Given the description of an element on the screen output the (x, y) to click on. 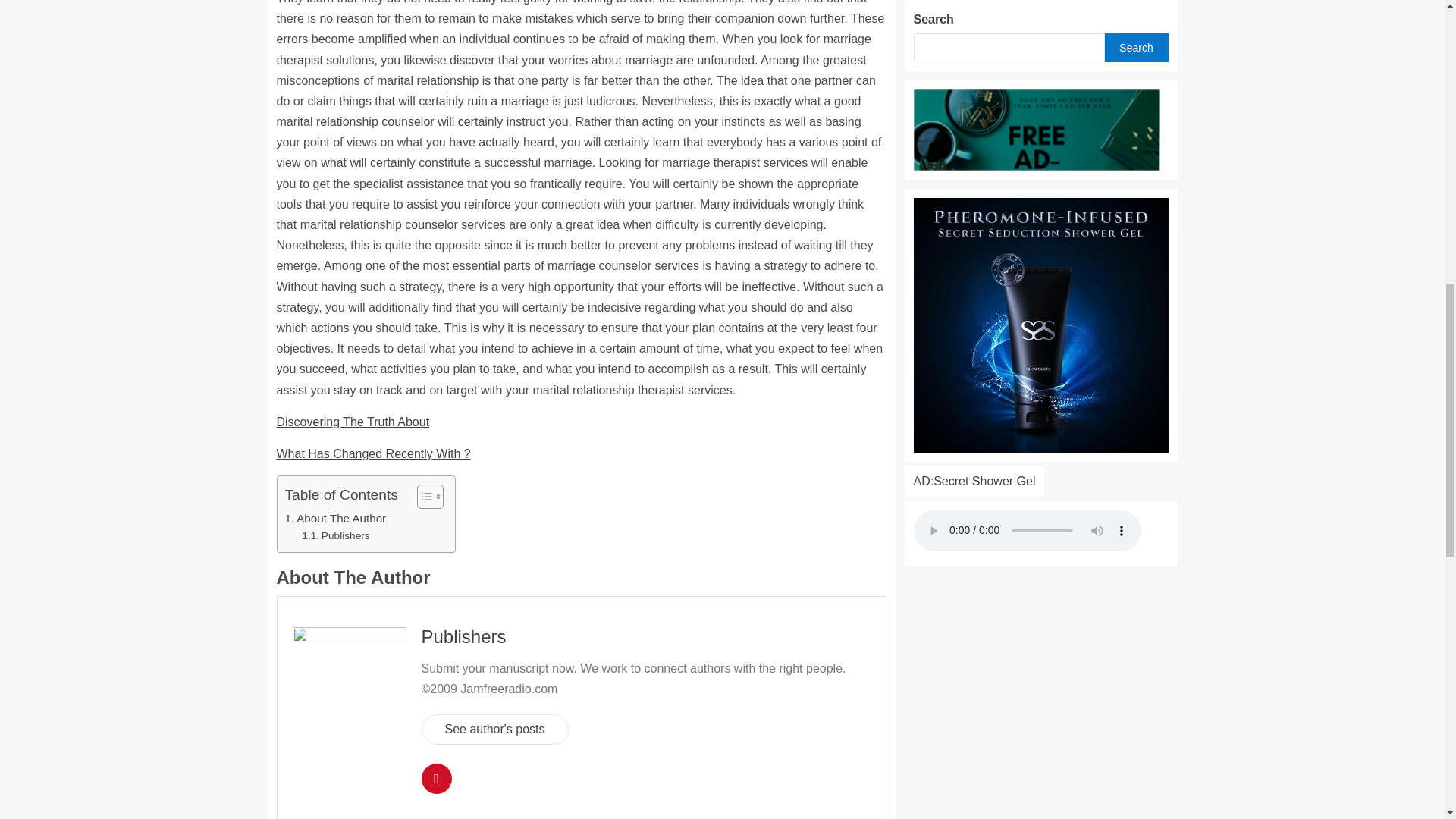
About The Author (336, 518)
Publishers (335, 535)
Publishers (335, 535)
Discovering The Truth About (352, 421)
What Has Changed Recently With ? (373, 453)
About The Author (336, 518)
